Given the description of an element on the screen output the (x, y) to click on. 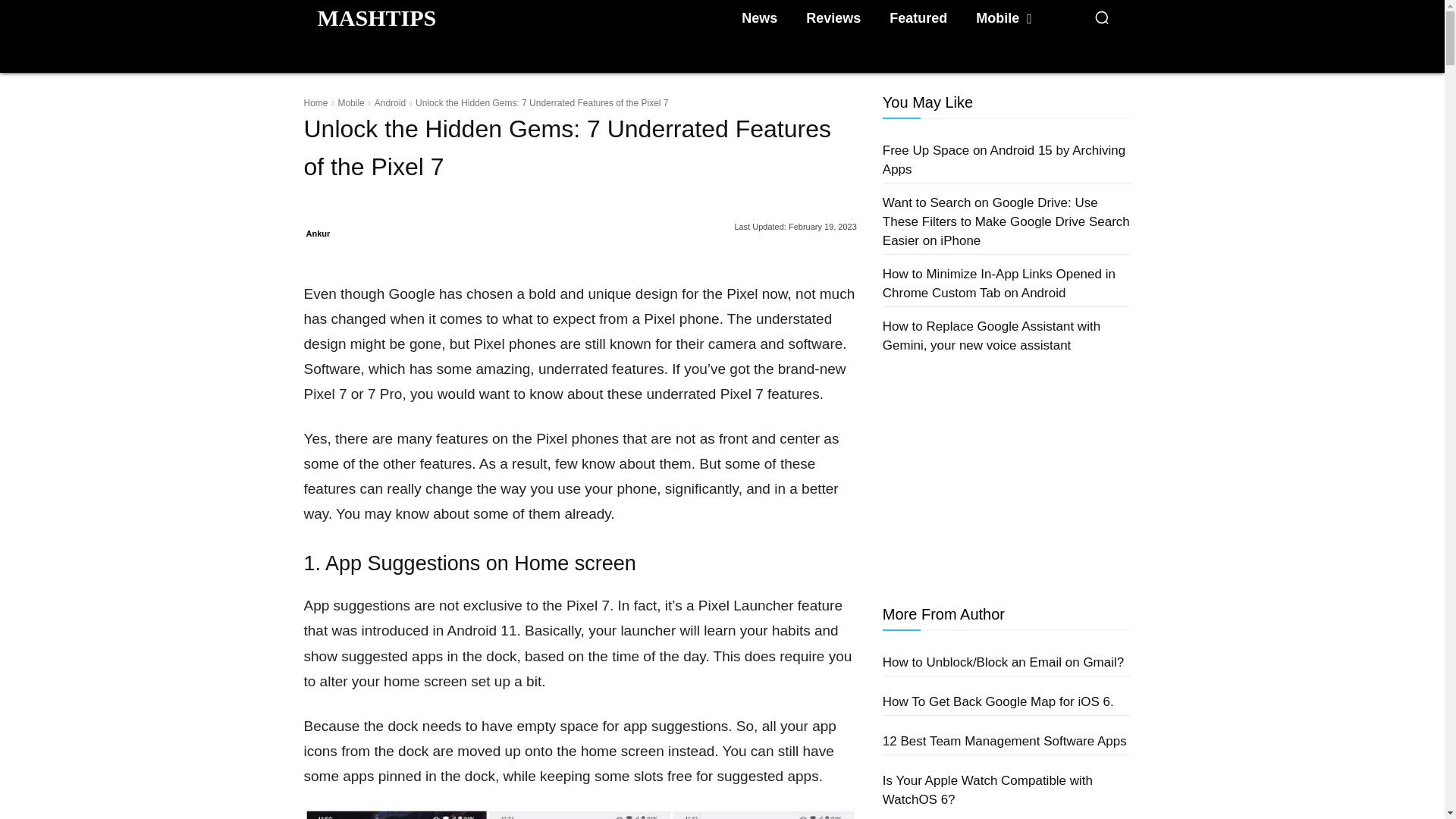
Mobile (1003, 18)
Mobile (350, 102)
Ankur (317, 232)
Reviews (832, 18)
News (758, 18)
View all posts in Mobile (350, 102)
MASHTIPS (376, 17)
View all posts in Android (390, 102)
Featured (918, 18)
Android (390, 102)
Home (314, 102)
MASHTIPS (376, 17)
